Given the description of an element on the screen output the (x, y) to click on. 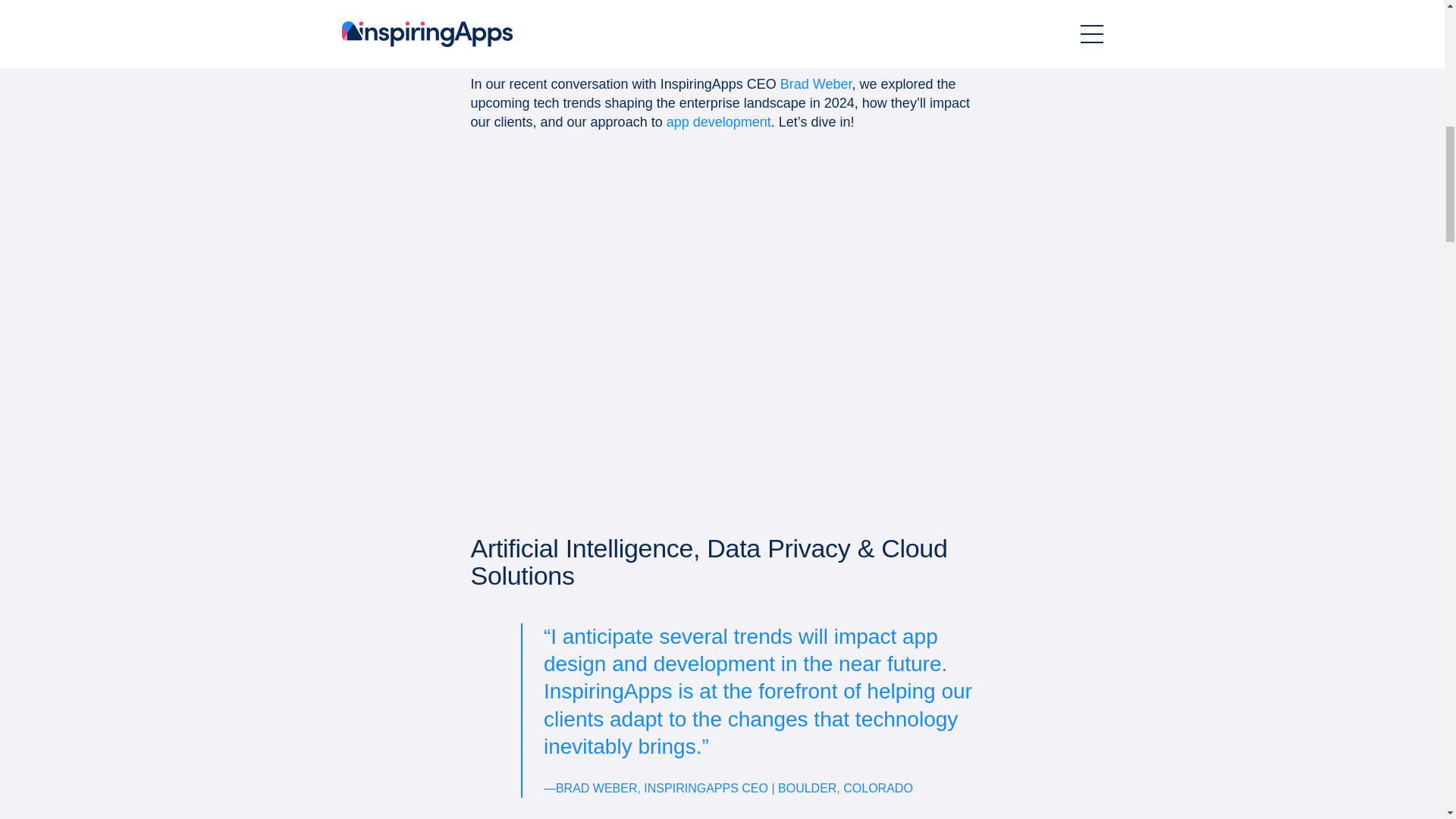
app development (718, 121)
Brad Weber (815, 83)
